Given the description of an element on the screen output the (x, y) to click on. 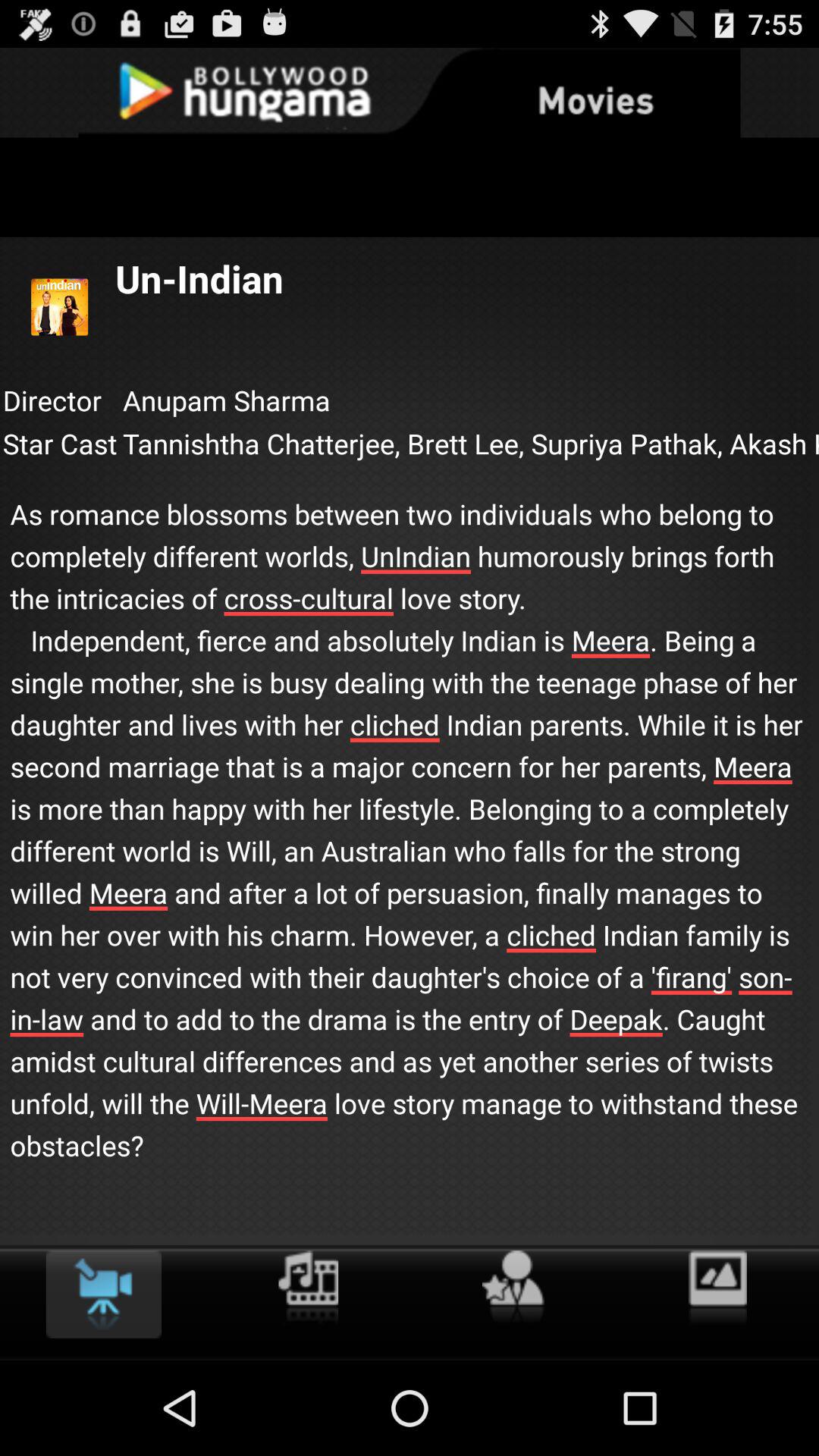
add to my favorites (512, 1287)
